Given the description of an element on the screen output the (x, y) to click on. 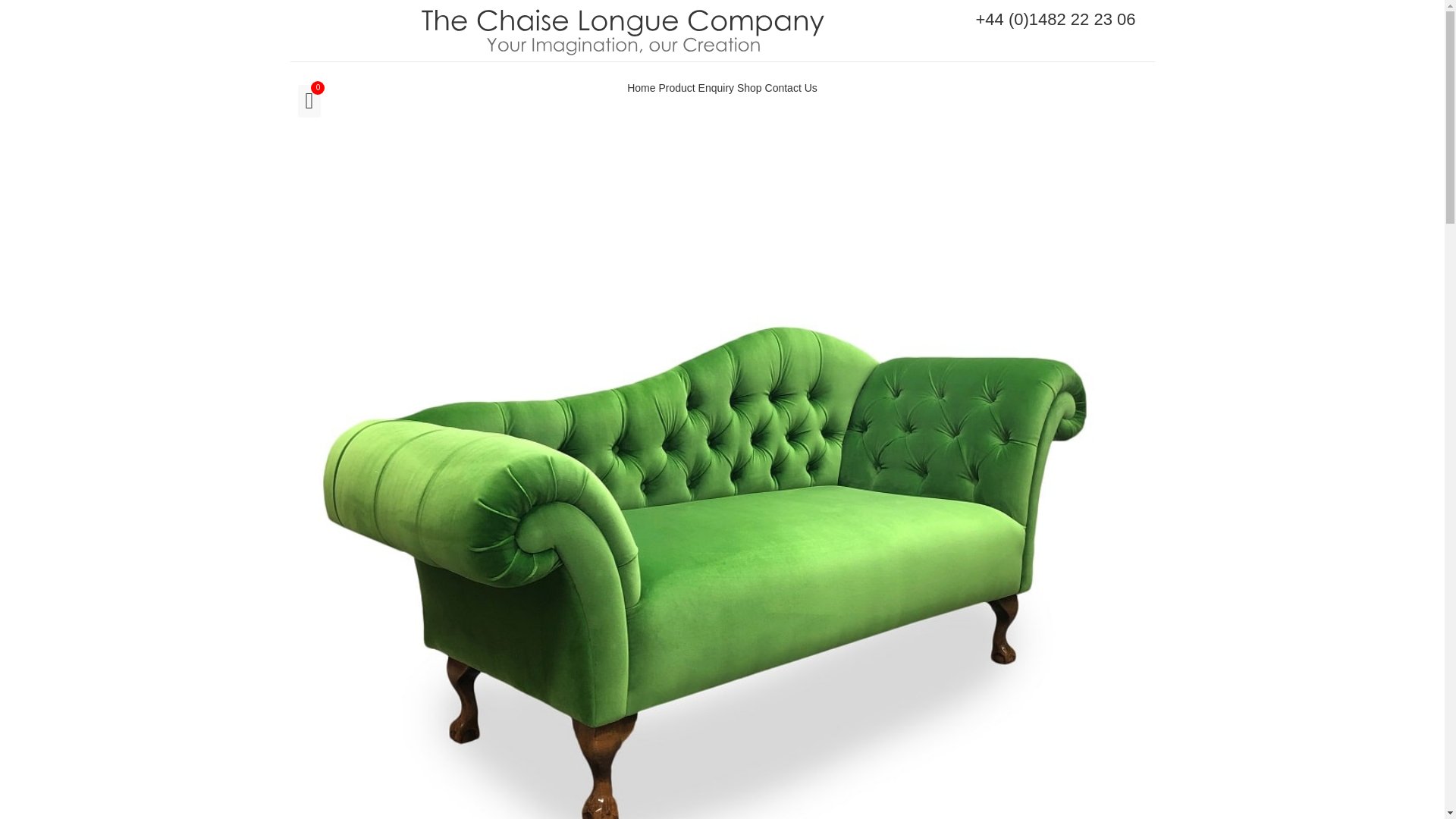
Contact Us (790, 87)
Home (641, 87)
The Chaise Longue Co. (641, 87)
Shop (748, 87)
Product Enquiry (695, 87)
Online Shop (748, 87)
The Chaise Longue Co. (623, 30)
Contact Us (790, 87)
Product Enquiry (695, 87)
